Given the description of an element on the screen output the (x, y) to click on. 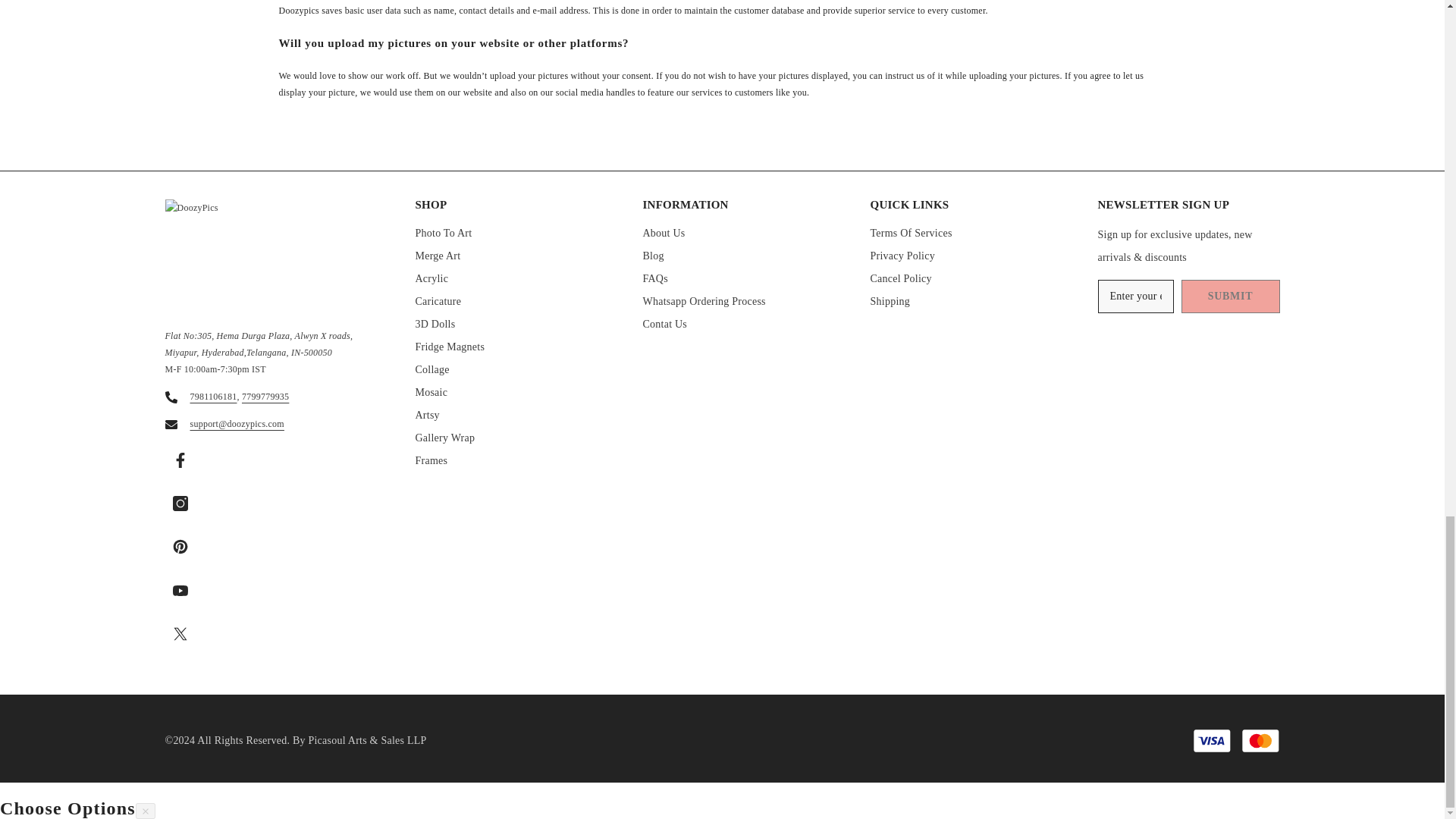
Mastercard (1260, 740)
Visa (1211, 740)
